Given the description of an element on the screen output the (x, y) to click on. 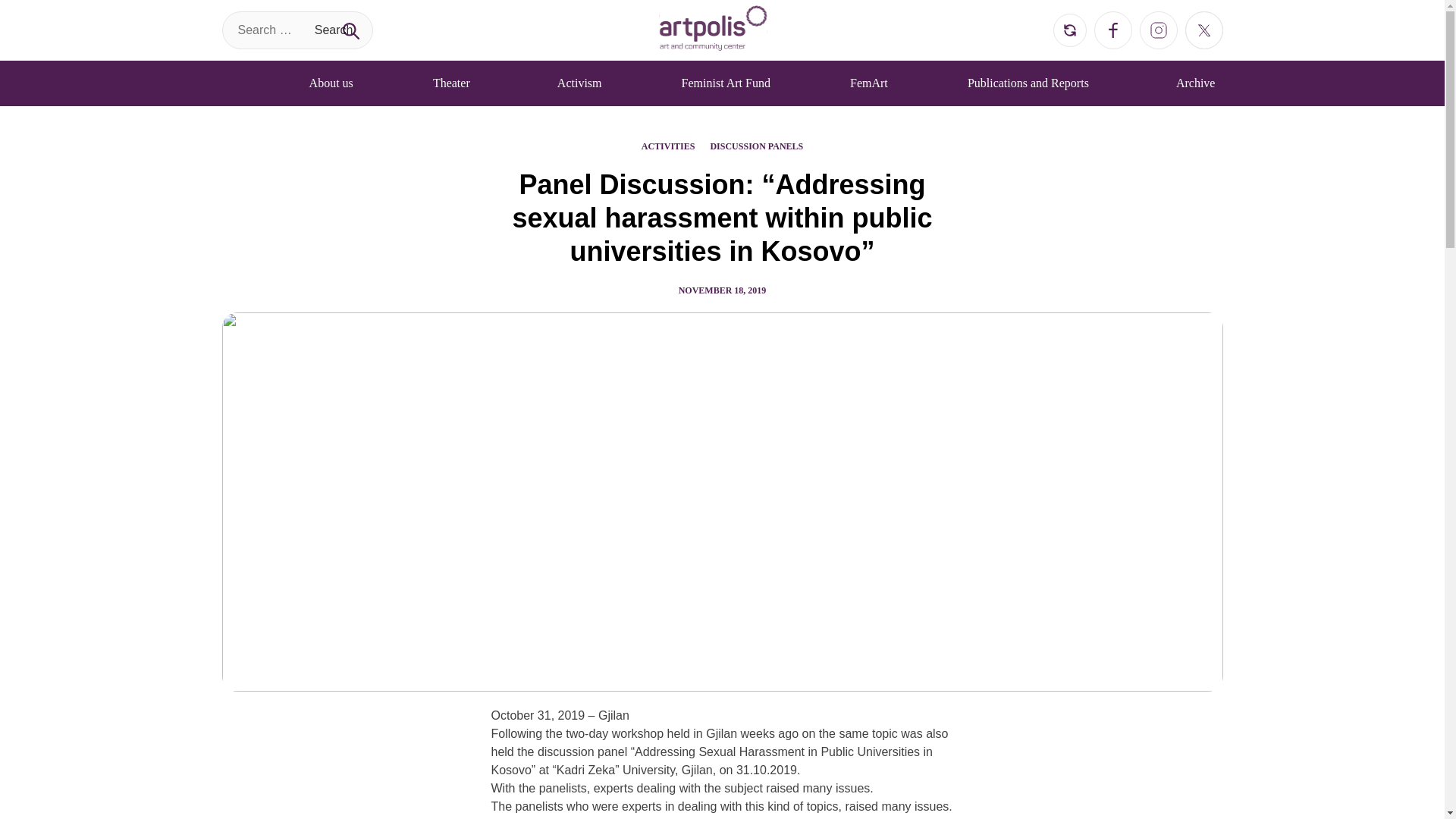
Activism (579, 83)
Publications and Reports (1032, 83)
Archive (1199, 83)
About us (330, 83)
Search (333, 28)
Search (333, 28)
Feminist Art Fund (725, 83)
Theater (454, 83)
Search (333, 28)
